Given the description of an element on the screen output the (x, y) to click on. 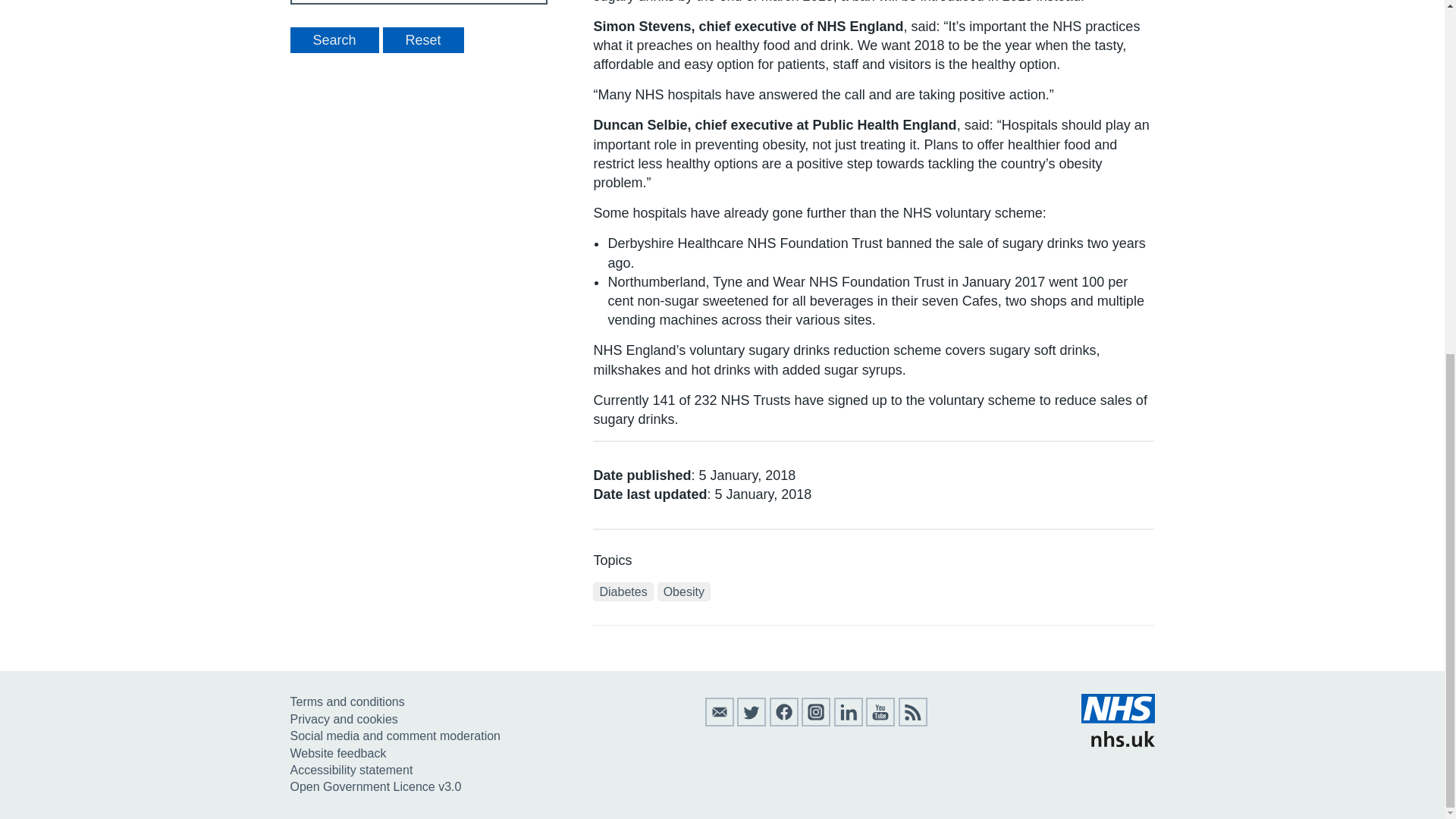
Terms and conditions (346, 701)
Obesity (684, 591)
Follow us on Facebook (783, 721)
Accessibility statement (350, 769)
Open Government Licence v3.0 (375, 786)
Diabetes (622, 591)
Terms and conditions (346, 701)
Follow us on Twitter (750, 721)
Social media and comment moderation (394, 735)
Open Government Licence v3.0 (375, 786)
Privacy and cookies (343, 718)
Reset (423, 40)
Social media and comment moderation (394, 735)
Website feedback (337, 753)
Accessibility statement (350, 769)
